Given the description of an element on the screen output the (x, y) to click on. 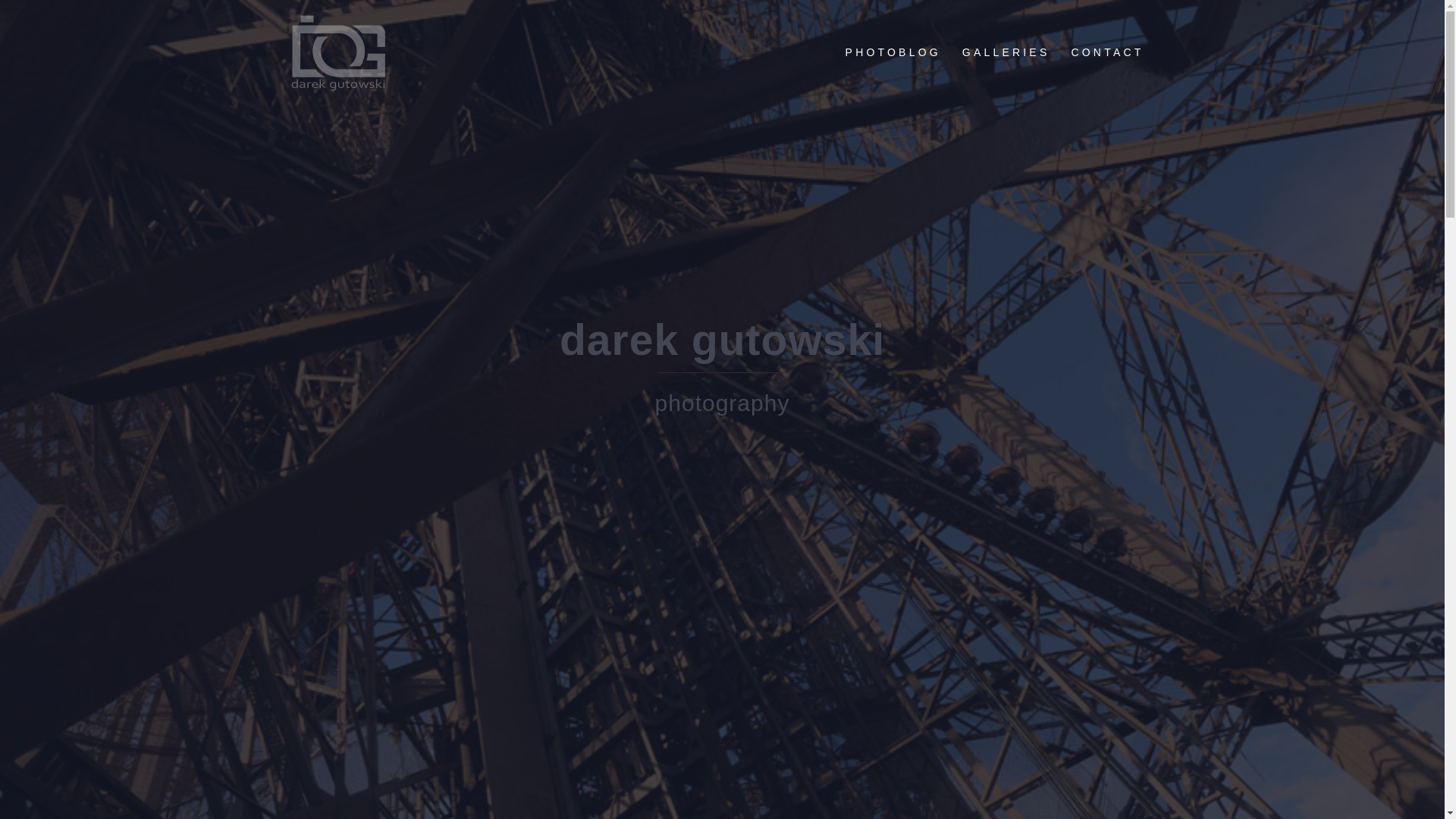
PHOTOBLOG (892, 53)
darek gutowski (337, 51)
GALLERIES (1005, 53)
CONTACT (1106, 53)
